Given the description of an element on the screen output the (x, y) to click on. 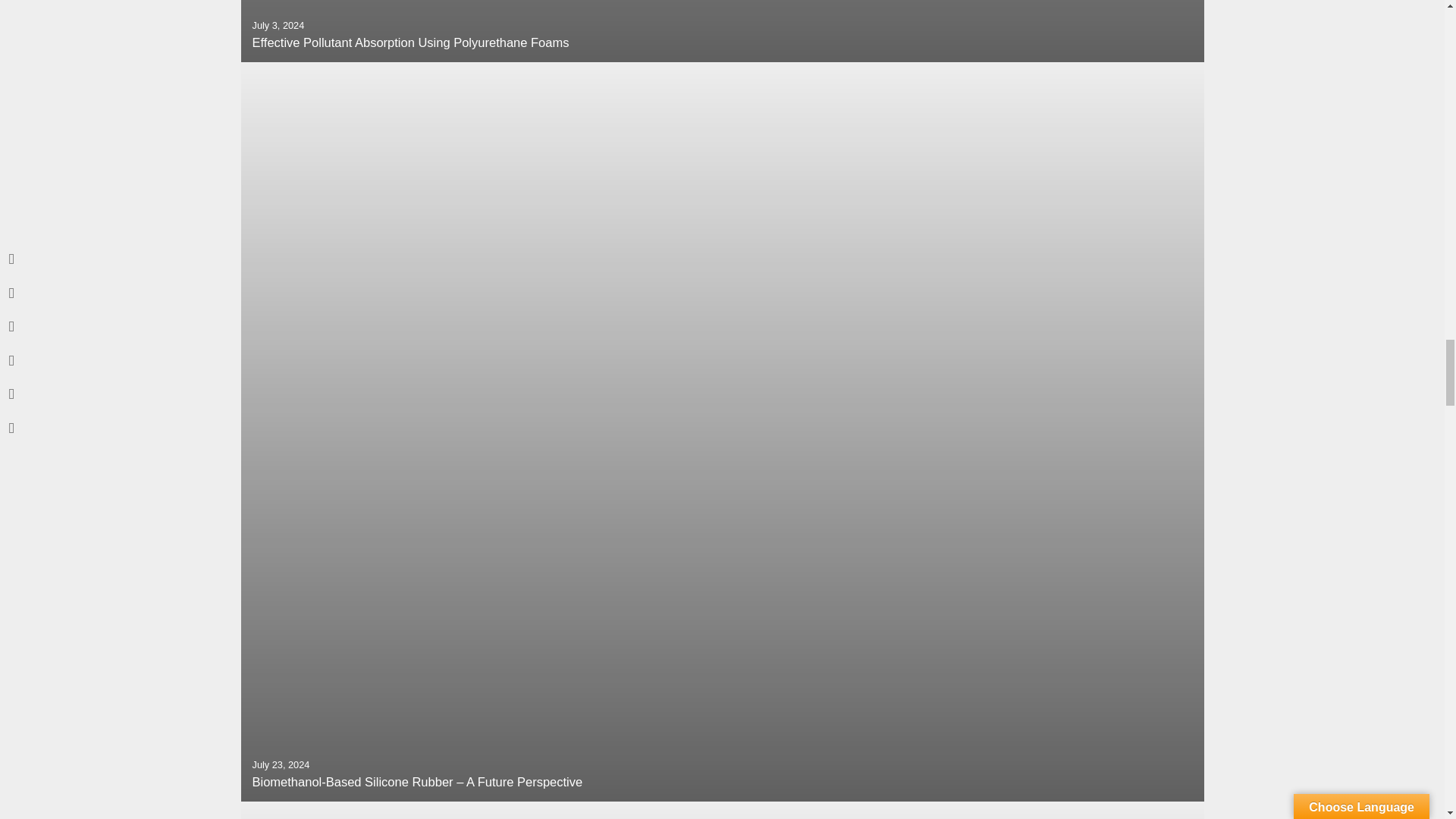
Effective Pollutant Absorption Using Polyurethane Foams (722, 31)
What are Plastic Credits About? (722, 810)
